Given the description of an element on the screen output the (x, y) to click on. 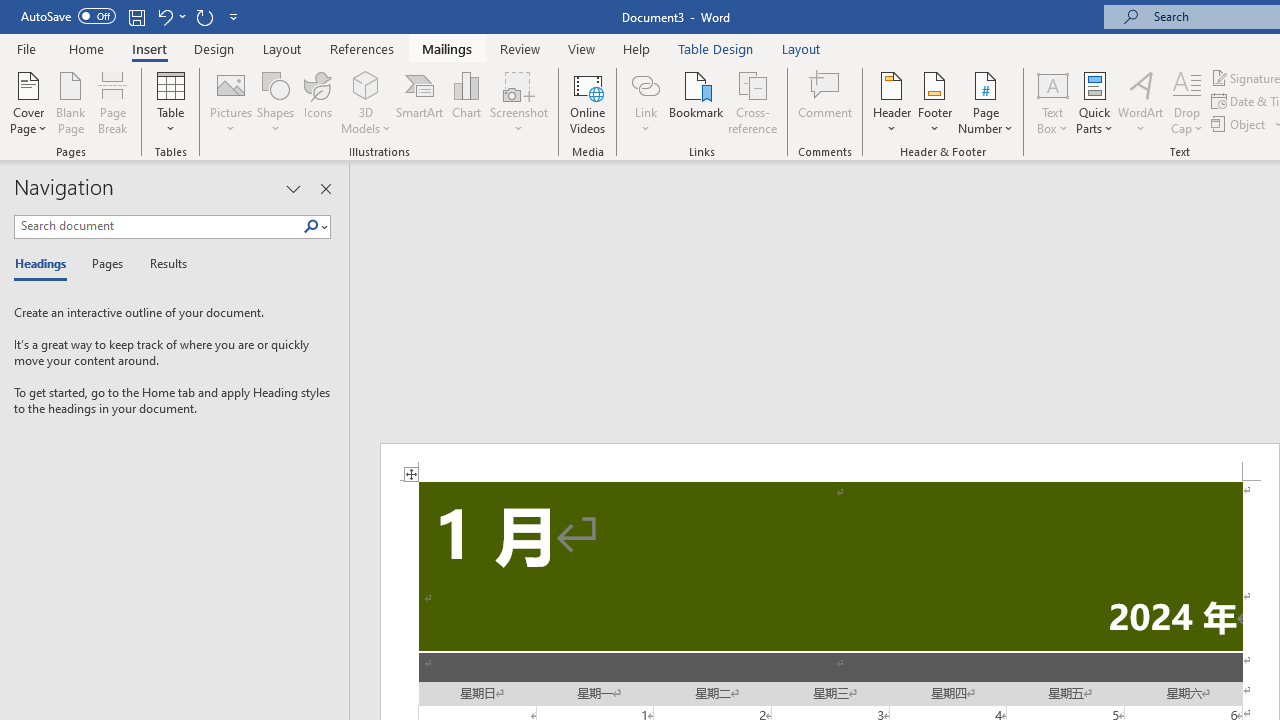
3D Models (366, 102)
Bookmark... (695, 102)
Undo Increase Indent (170, 15)
Footer (934, 102)
Screenshot (518, 102)
Online Videos... (588, 102)
Blank Page (70, 102)
Table Design (715, 48)
